Given the description of an element on the screen output the (x, y) to click on. 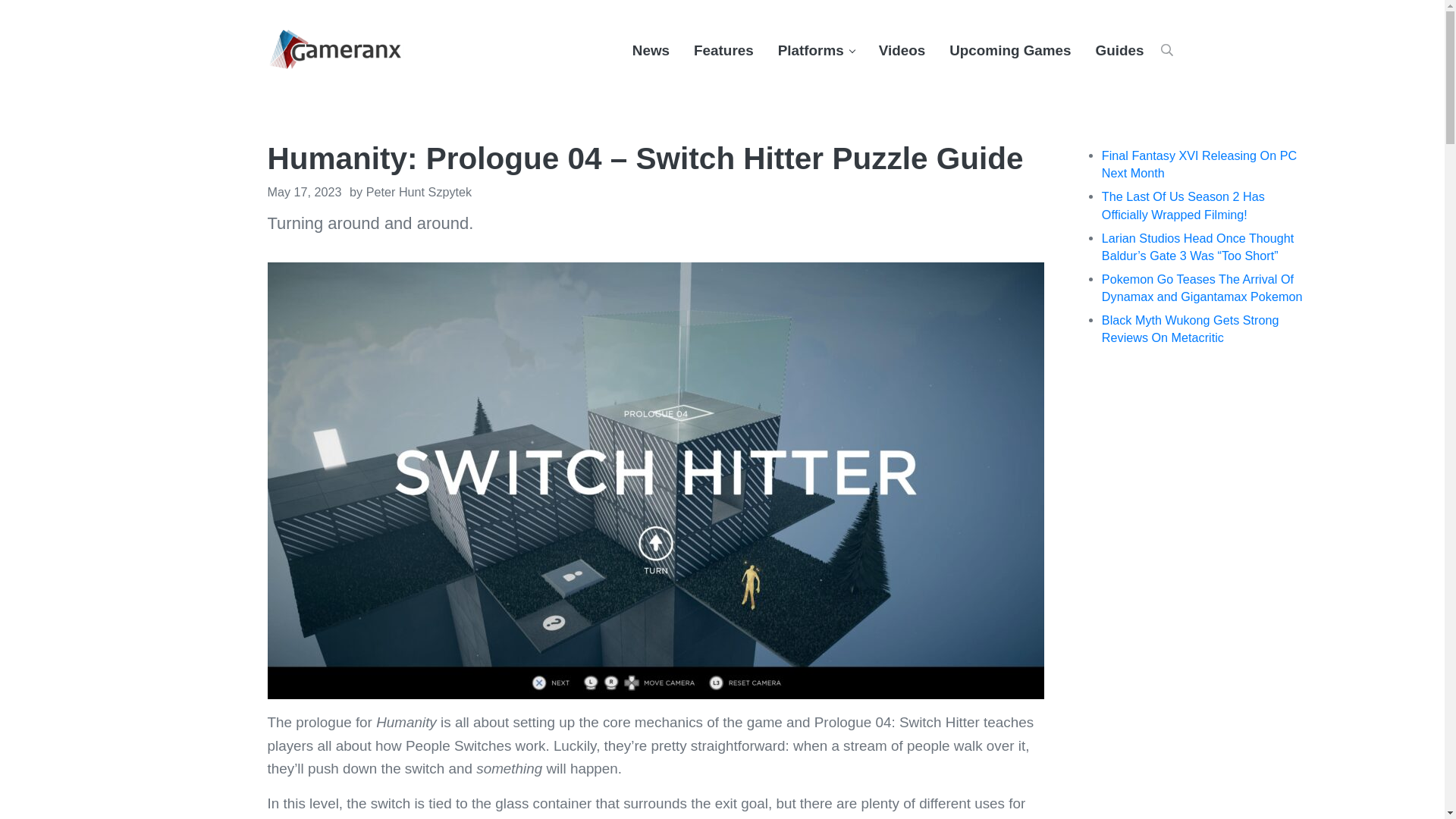
News (650, 50)
Upcoming Games (1010, 50)
Guides (1119, 50)
Videos (901, 50)
Features (723, 50)
Peter Hunt Szpytek (418, 192)
Platforms (815, 50)
